Given the description of an element on the screen output the (x, y) to click on. 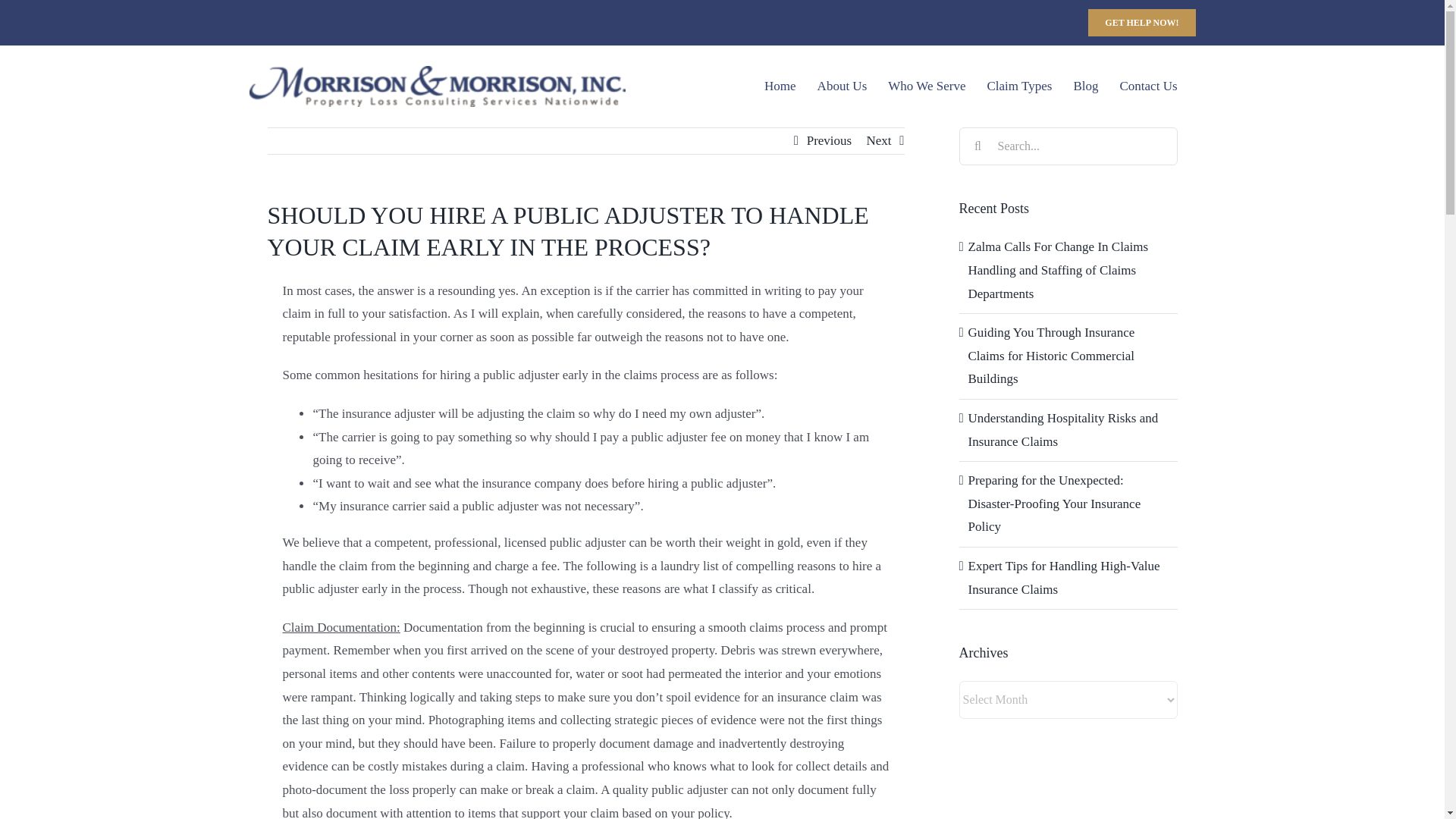
Claim Types (1019, 86)
About Us (841, 86)
Contact Us (1147, 86)
Previous (828, 140)
Who We Serve (926, 86)
Next (878, 140)
GET HELP NOW! (1141, 22)
